Given the description of an element on the screen output the (x, y) to click on. 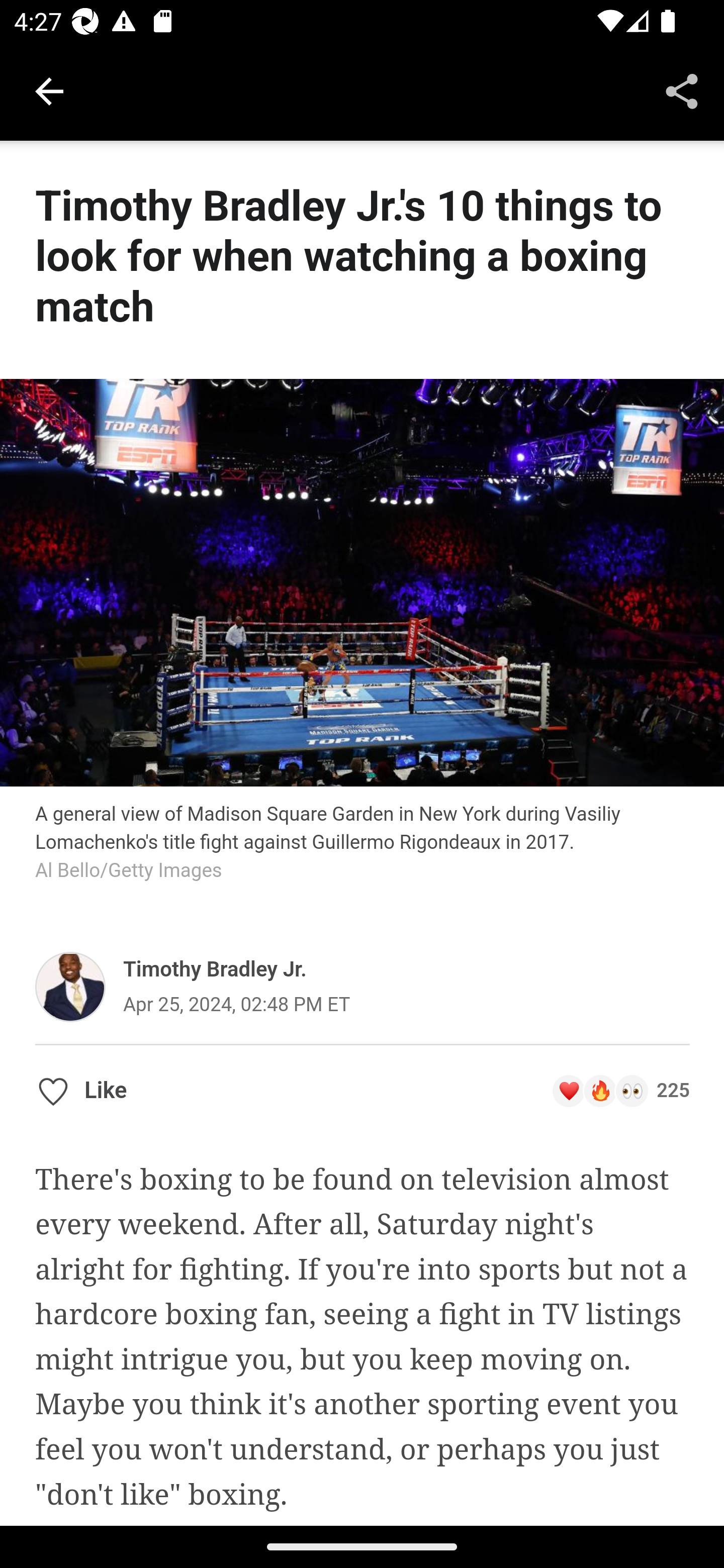
Navigate up (49, 91)
Share (681, 90)
